Given the description of an element on the screen output the (x, y) to click on. 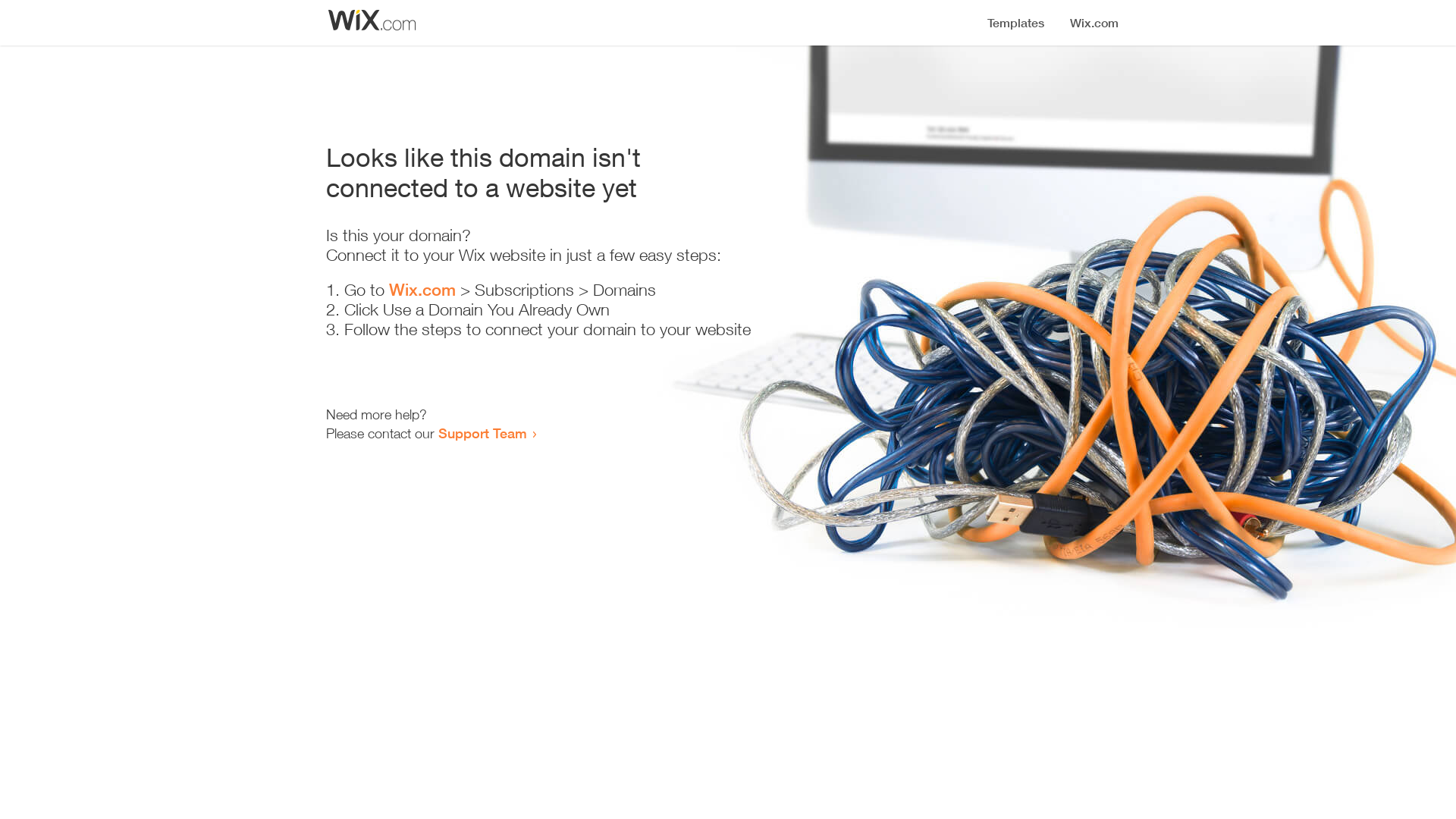
Support Team Element type: text (482, 432)
Wix.com Element type: text (422, 289)
